Given the description of an element on the screen output the (x, y) to click on. 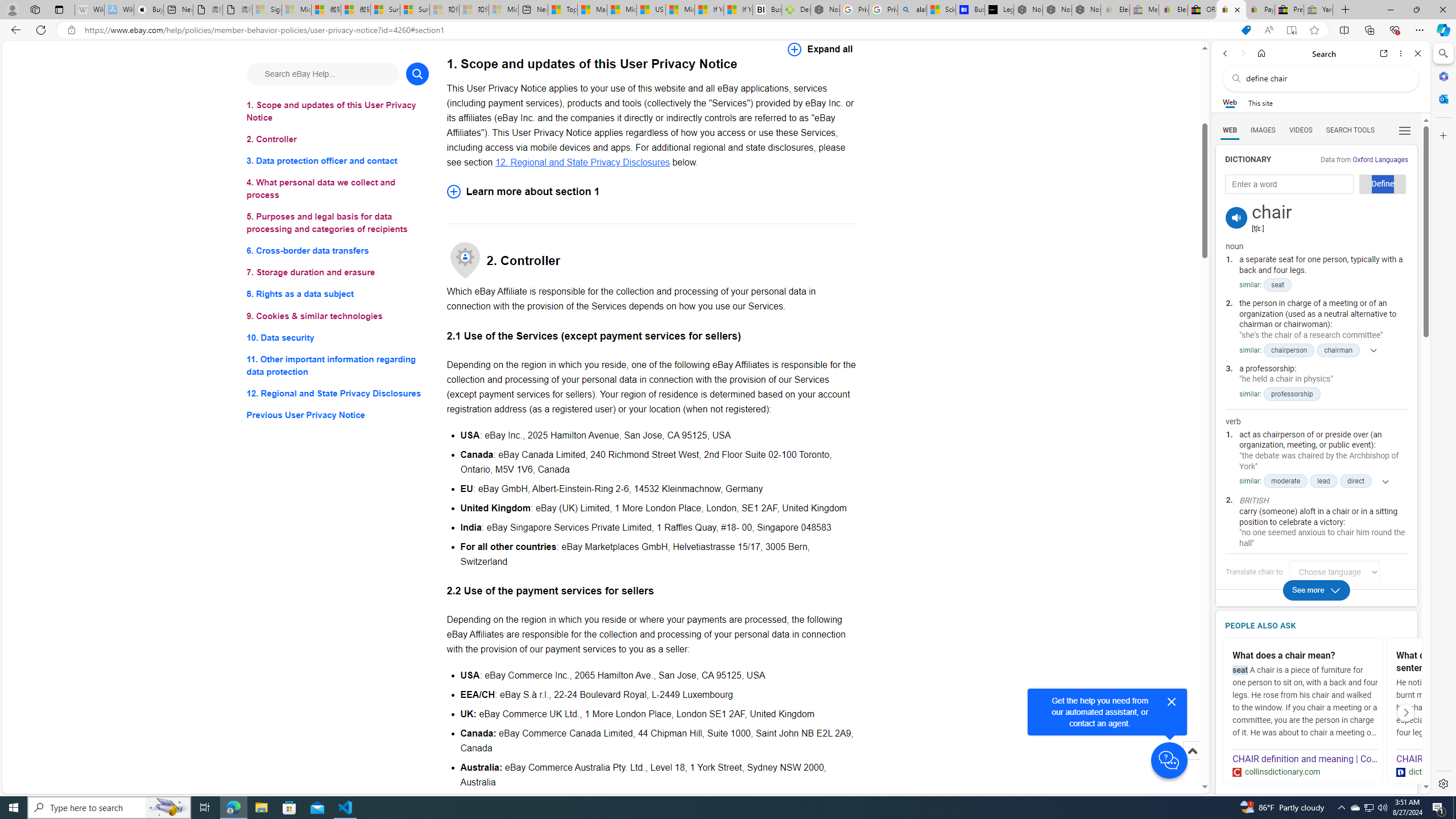
Translate chair to Choose language (1335, 572)
9. Cookies & similar technologies (337, 315)
4. What personal data we collect and process (337, 189)
4. What personal data we collect and process (337, 189)
Previous User Privacy Notice (337, 414)
moderate (1285, 481)
